Given the description of an element on the screen output the (x, y) to click on. 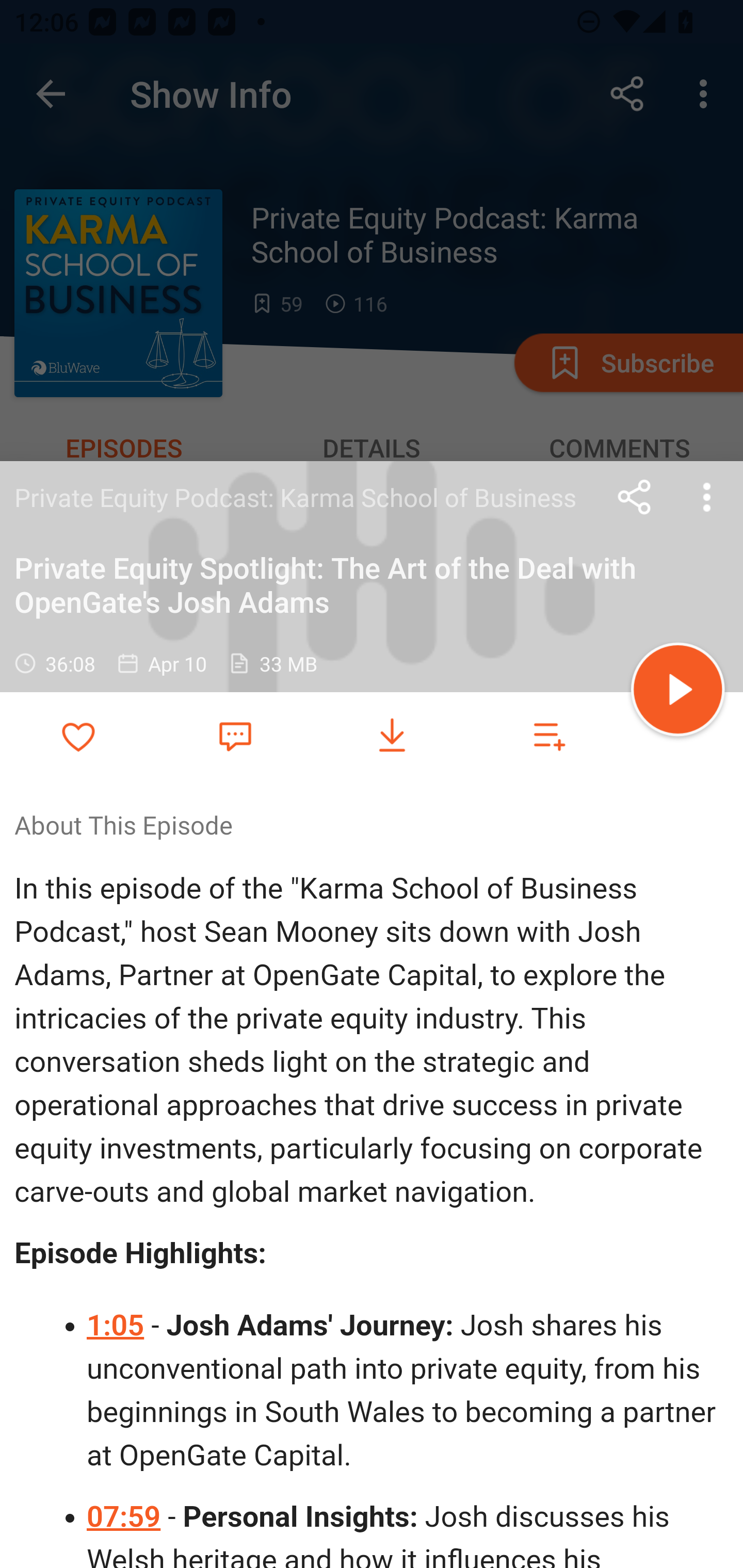
Share (634, 496)
more options (706, 496)
Play (677, 692)
Favorite (234, 735)
Add to Favorites (78, 735)
Download (391, 735)
Add to playlist (548, 735)
1:05 (115, 1325)
07:59 (124, 1517)
